Given the description of an element on the screen output the (x, y) to click on. 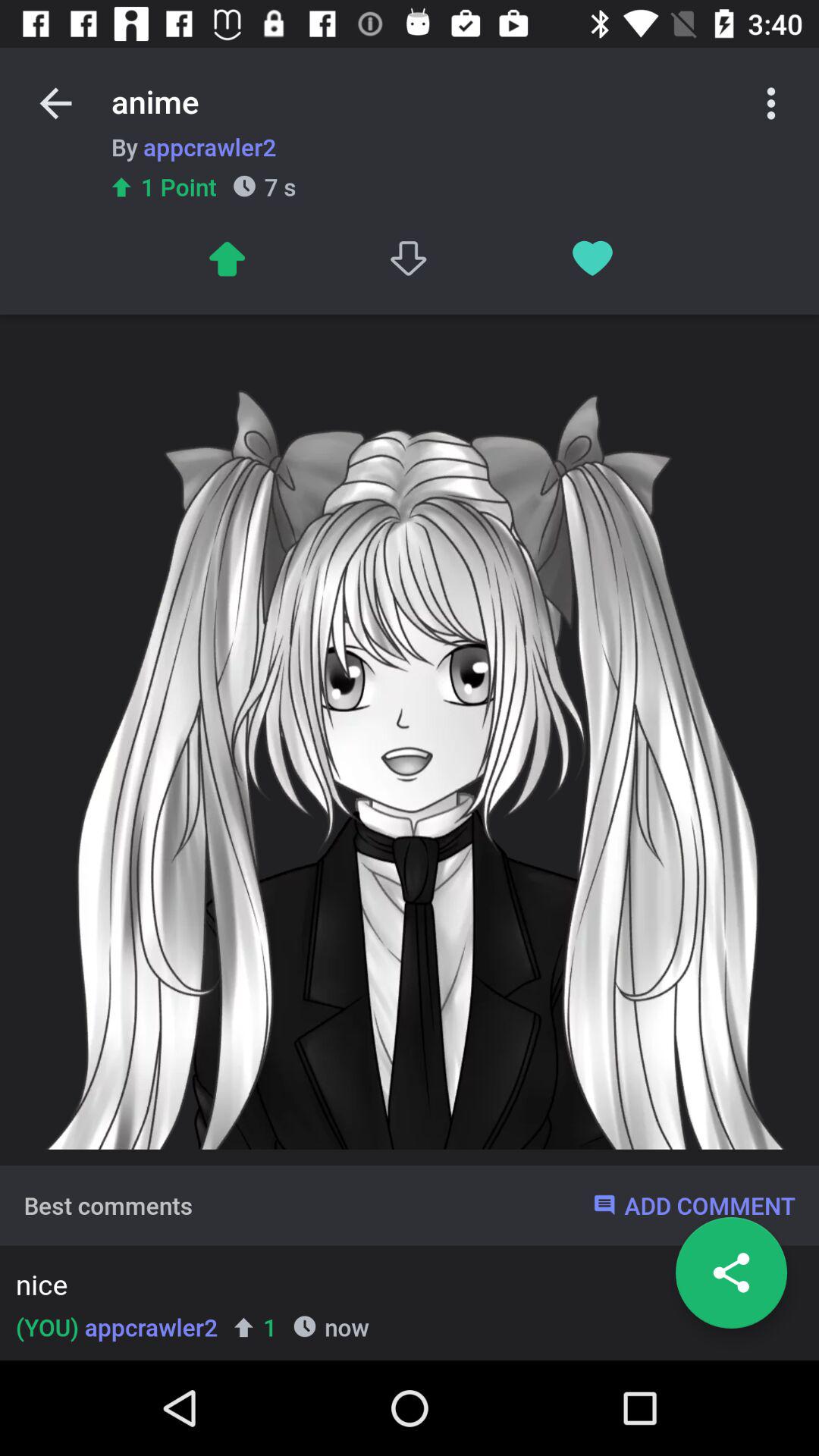
choose item above 1 point (193, 146)
